Given the description of an element on the screen output the (x, y) to click on. 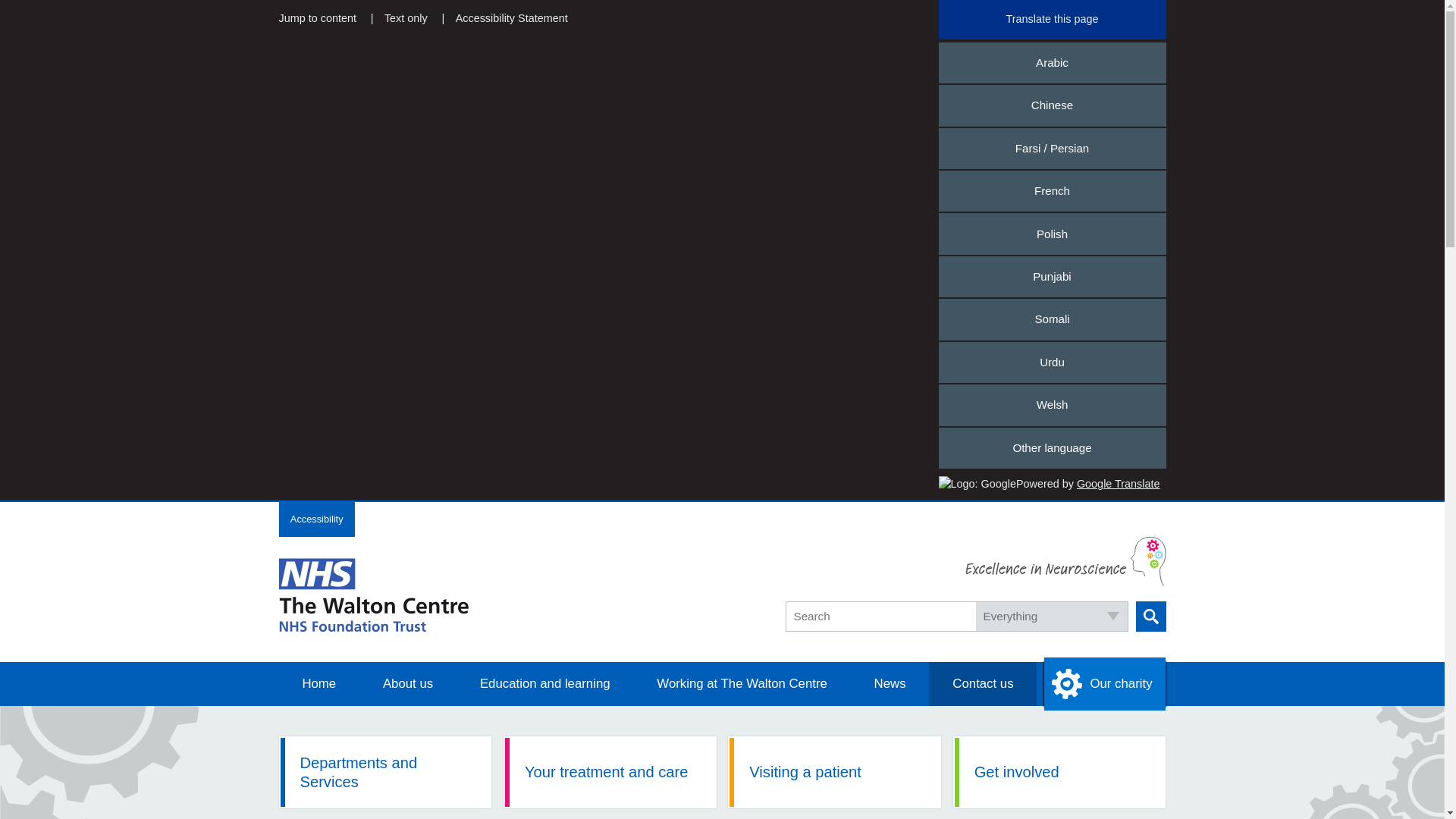
Departments and Services (385, 771)
Search (1150, 616)
Chinese (1052, 105)
Other language (1052, 447)
Somali (1052, 318)
About us (408, 683)
Home (319, 683)
Arabic (1052, 62)
French (1052, 190)
Polish (1052, 232)
